Given the description of an element on the screen output the (x, y) to click on. 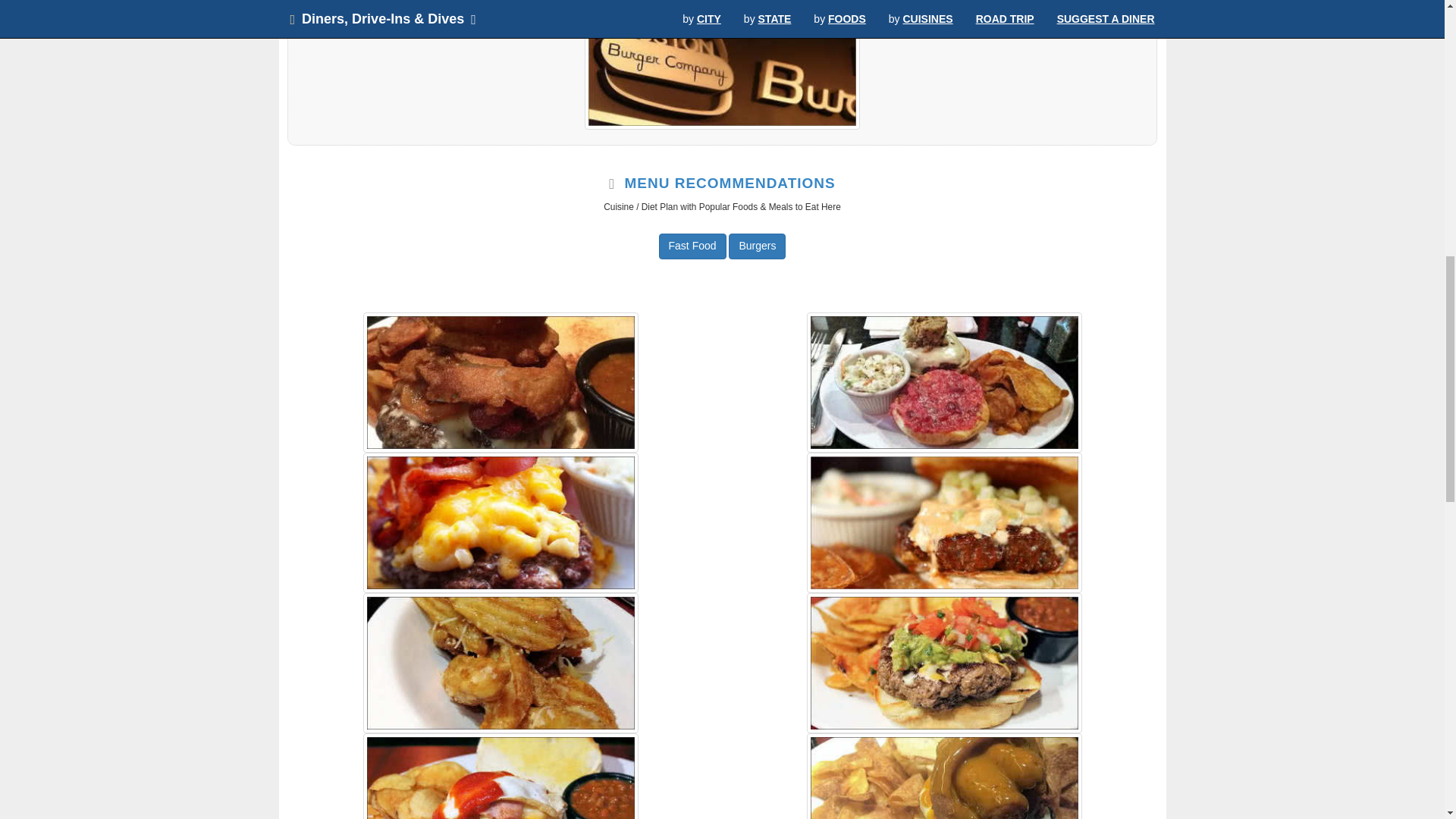
Burgers (757, 246)
Fast Food (692, 246)
